Given the description of an element on the screen output the (x, y) to click on. 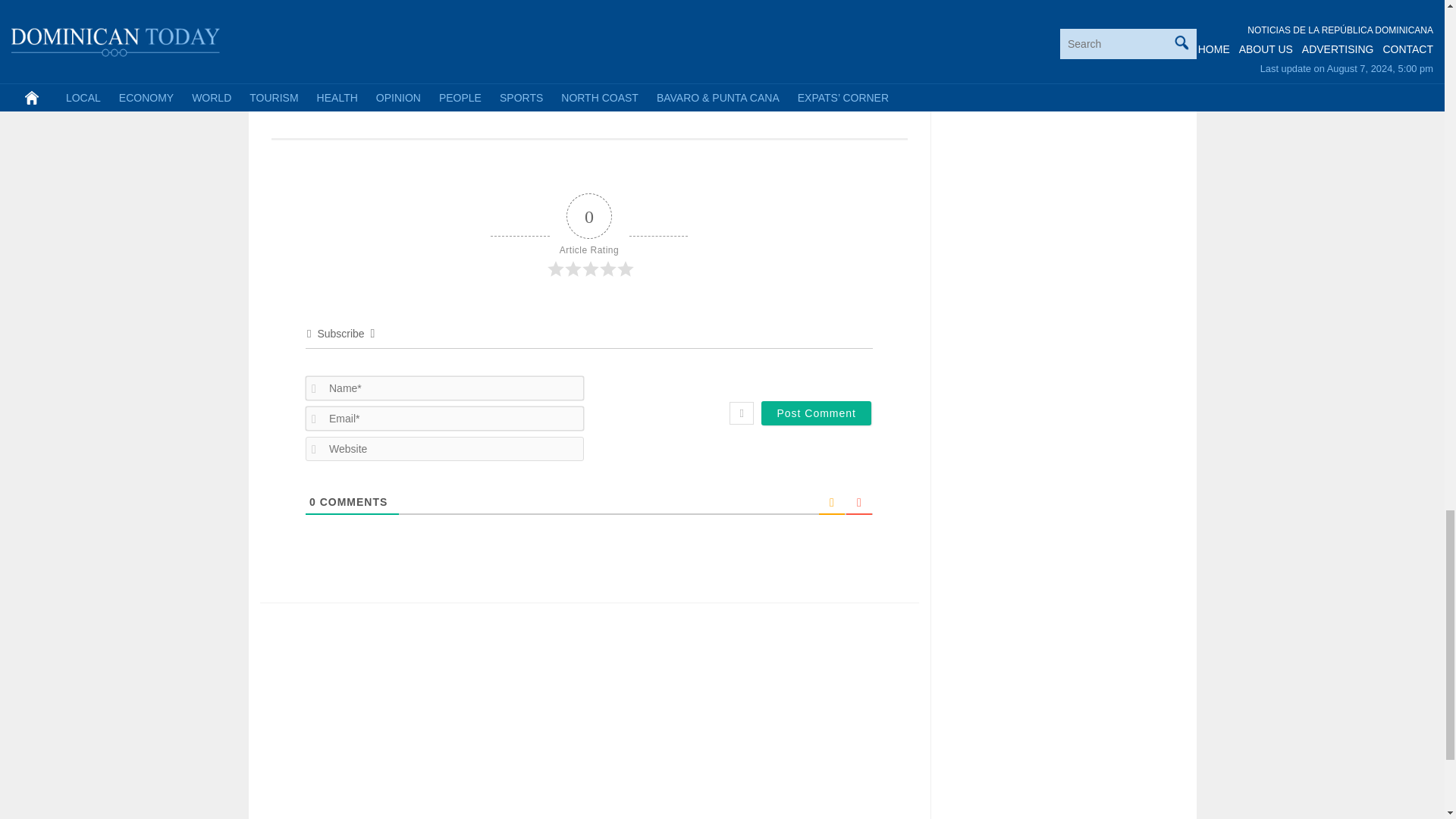
Post Comment (815, 413)
Post Comment (815, 413)
